Given the description of an element on the screen output the (x, y) to click on. 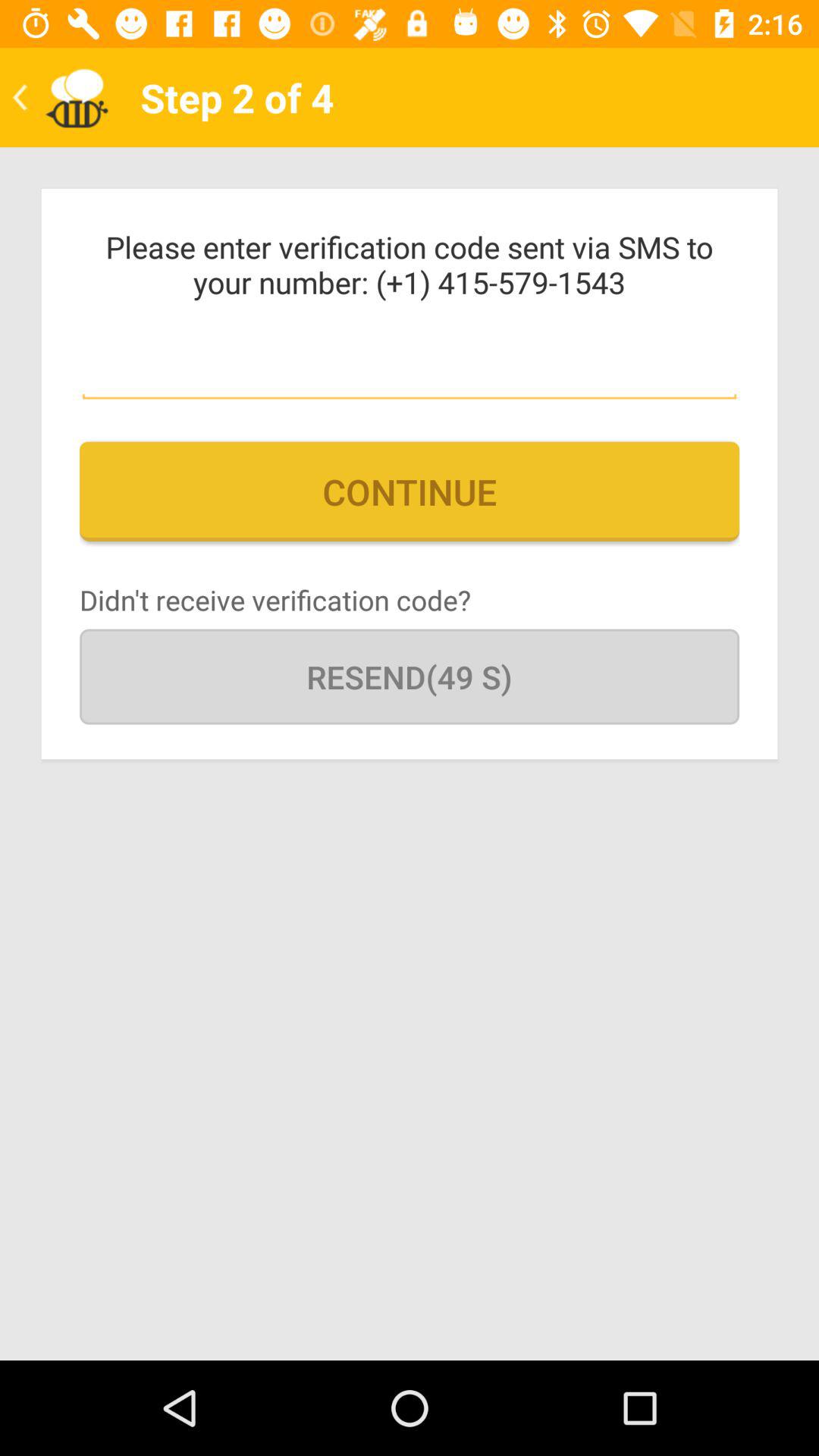
choose resend(49 s) (409, 676)
